Given the description of an element on the screen output the (x, y) to click on. 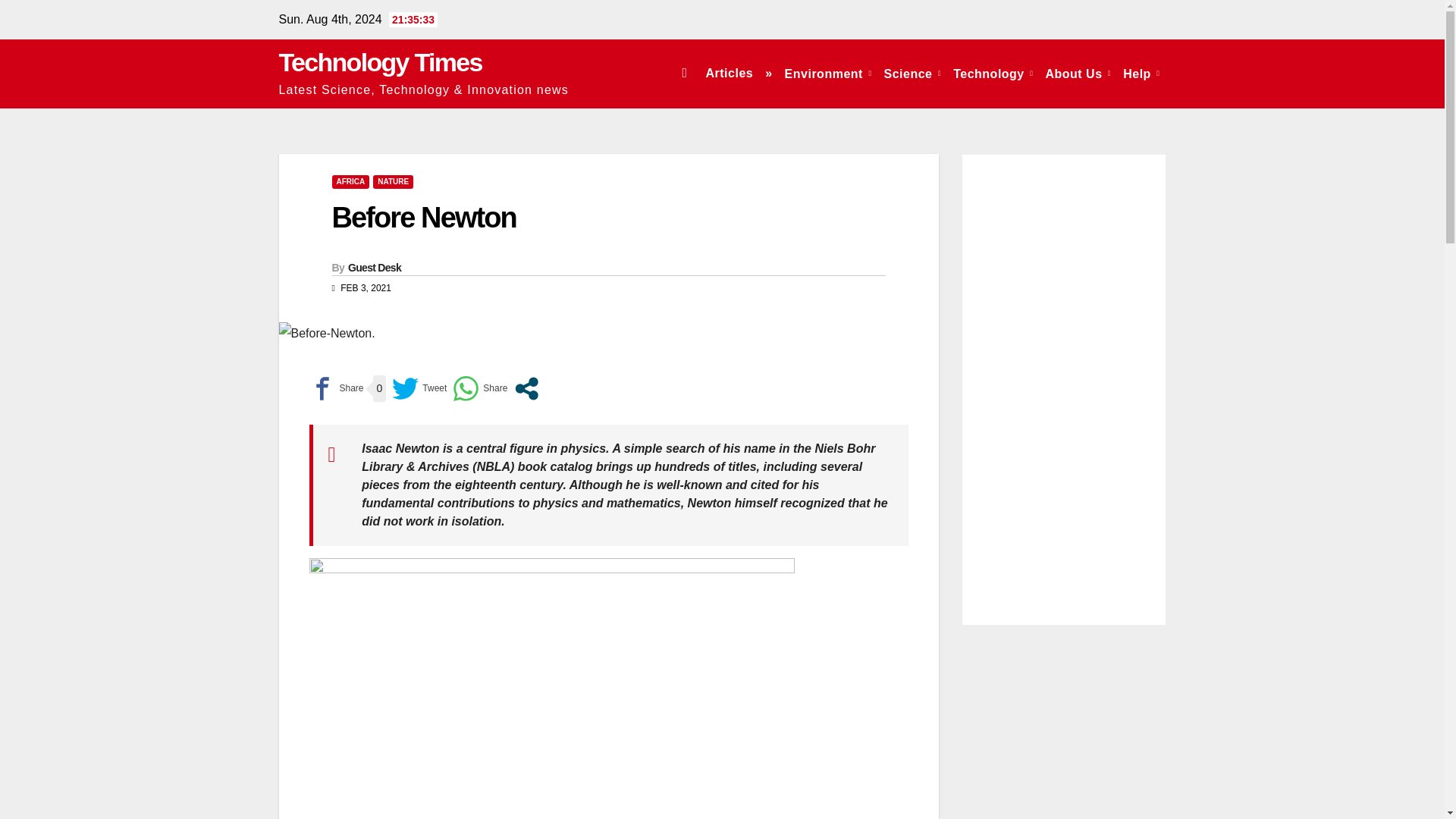
Technology (993, 73)
Science (912, 73)
Technology (993, 73)
Science (912, 73)
Environment (827, 73)
Technology Times (380, 61)
About Us (1077, 73)
Environment (827, 73)
